Given the description of an element on the screen output the (x, y) to click on. 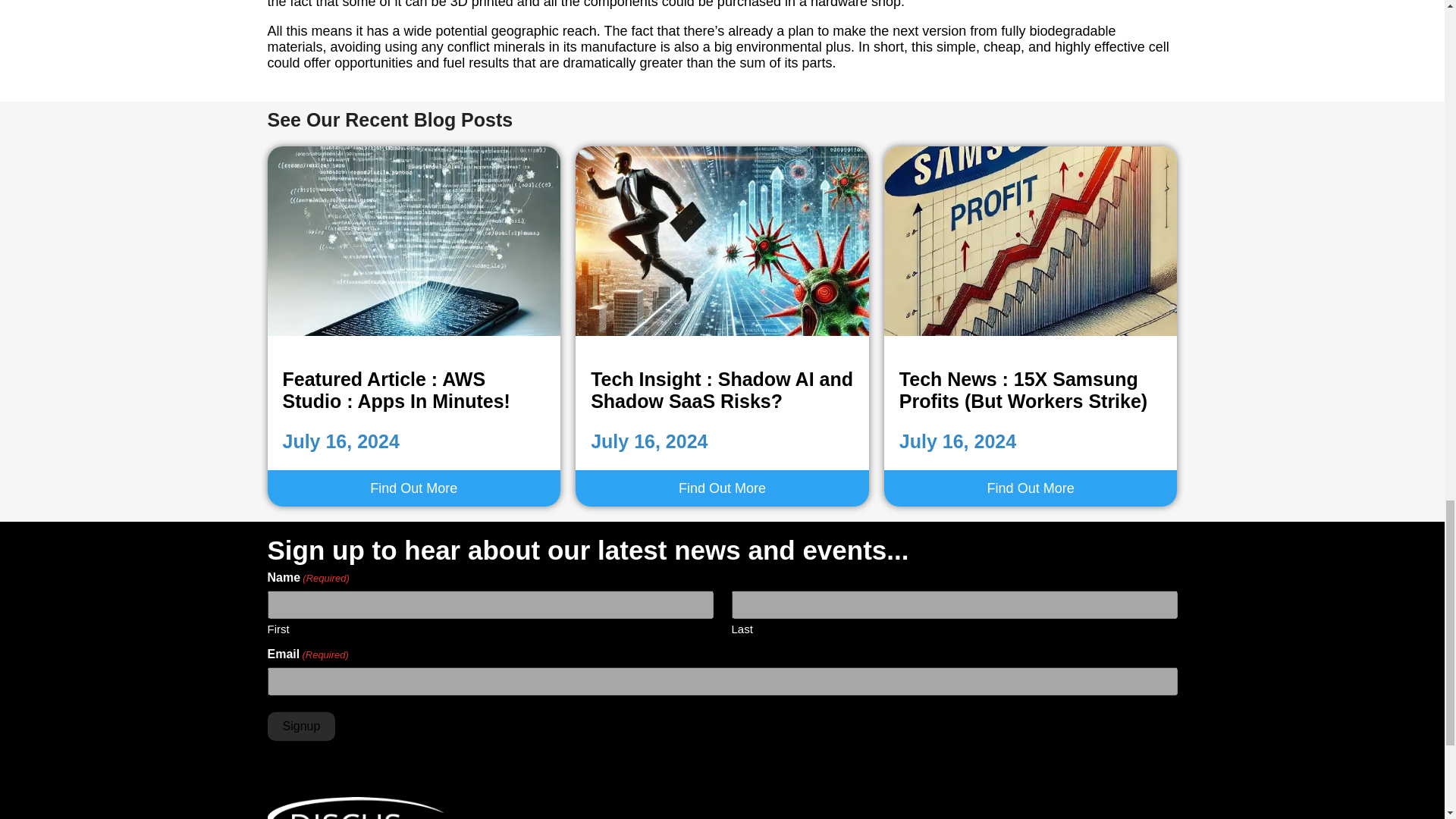
Signup (300, 726)
